Given the description of an element on the screen output the (x, y) to click on. 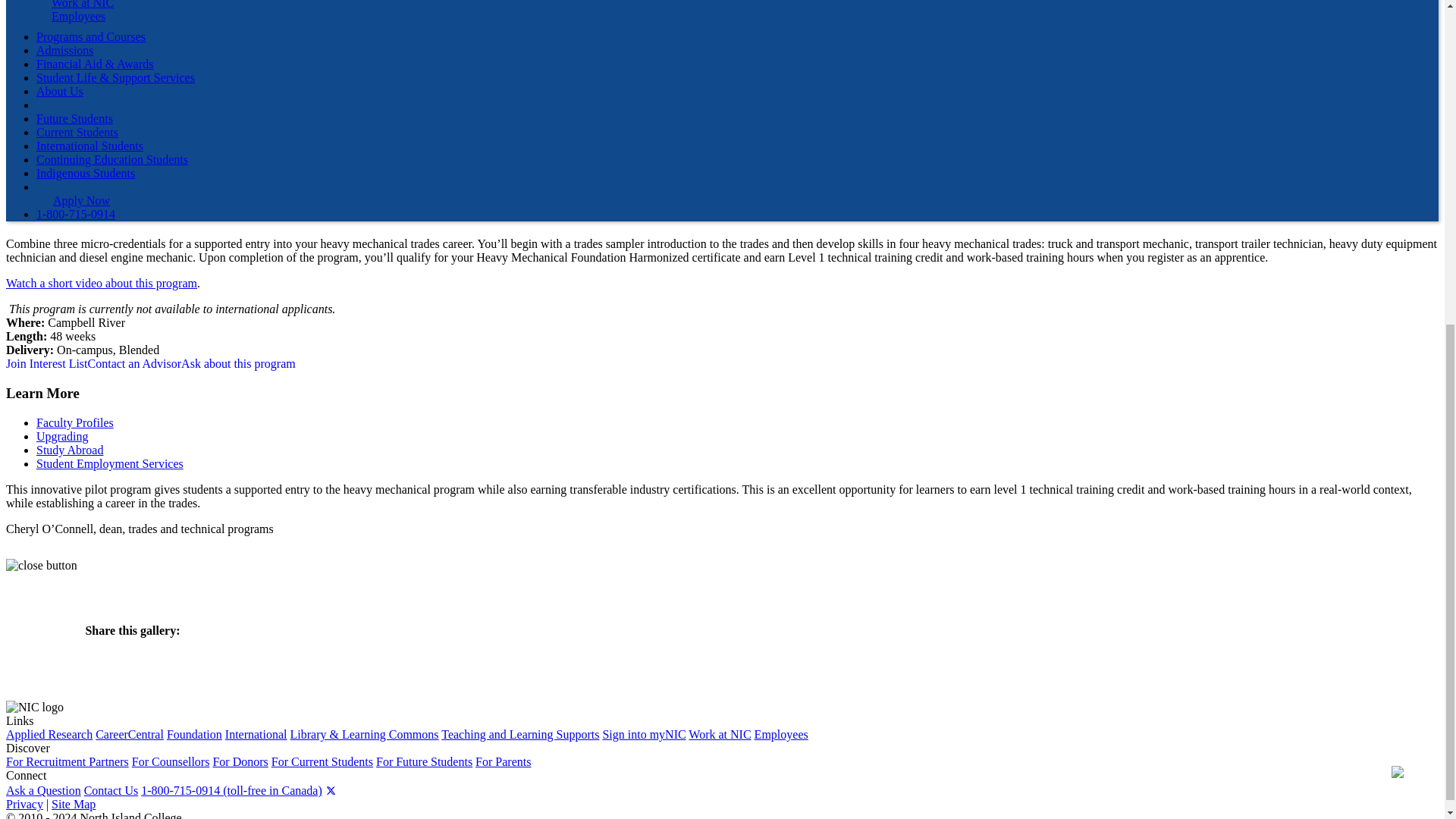
Admissions (65, 50)
Programs and Courses (90, 36)
Employees (77, 15)
Work at NIC (81, 4)
